Given the description of an element on the screen output the (x, y) to click on. 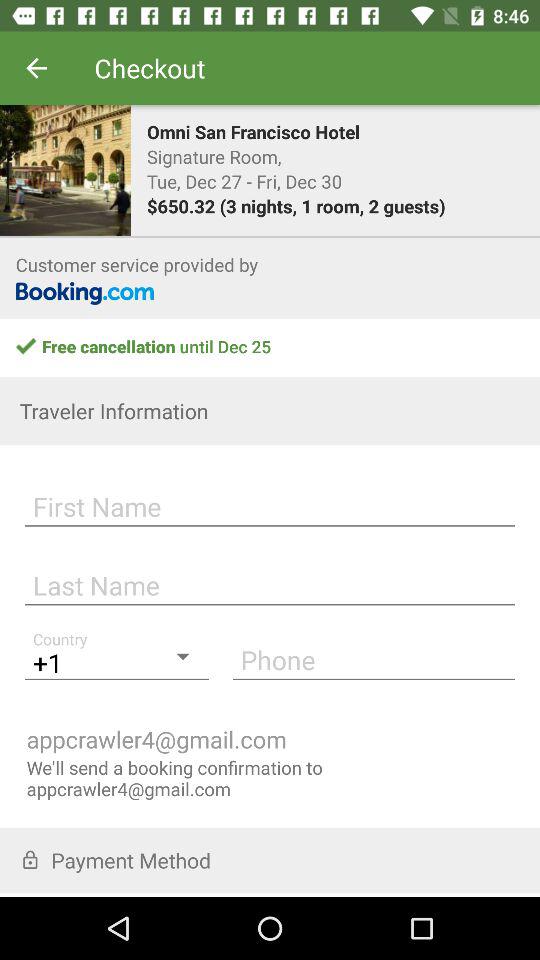
press item at the bottom right corner (373, 659)
